Given the description of an element on the screen output the (x, y) to click on. 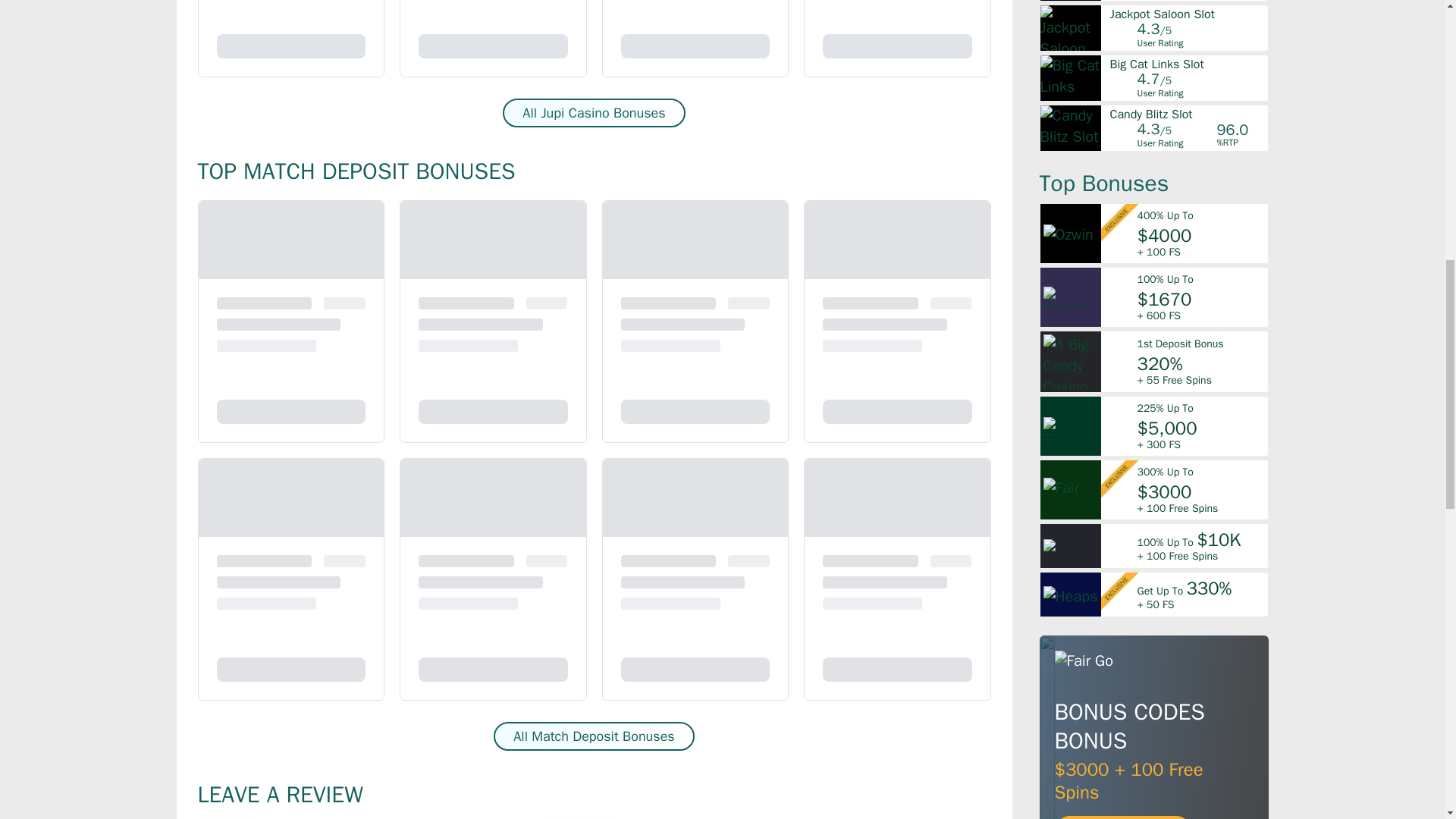
Candy Blitz Slot (1187, 114)
Big Cat Links Slot (1187, 64)
Jackpot Saloon Slot (1187, 14)
